Given the description of an element on the screen output the (x, y) to click on. 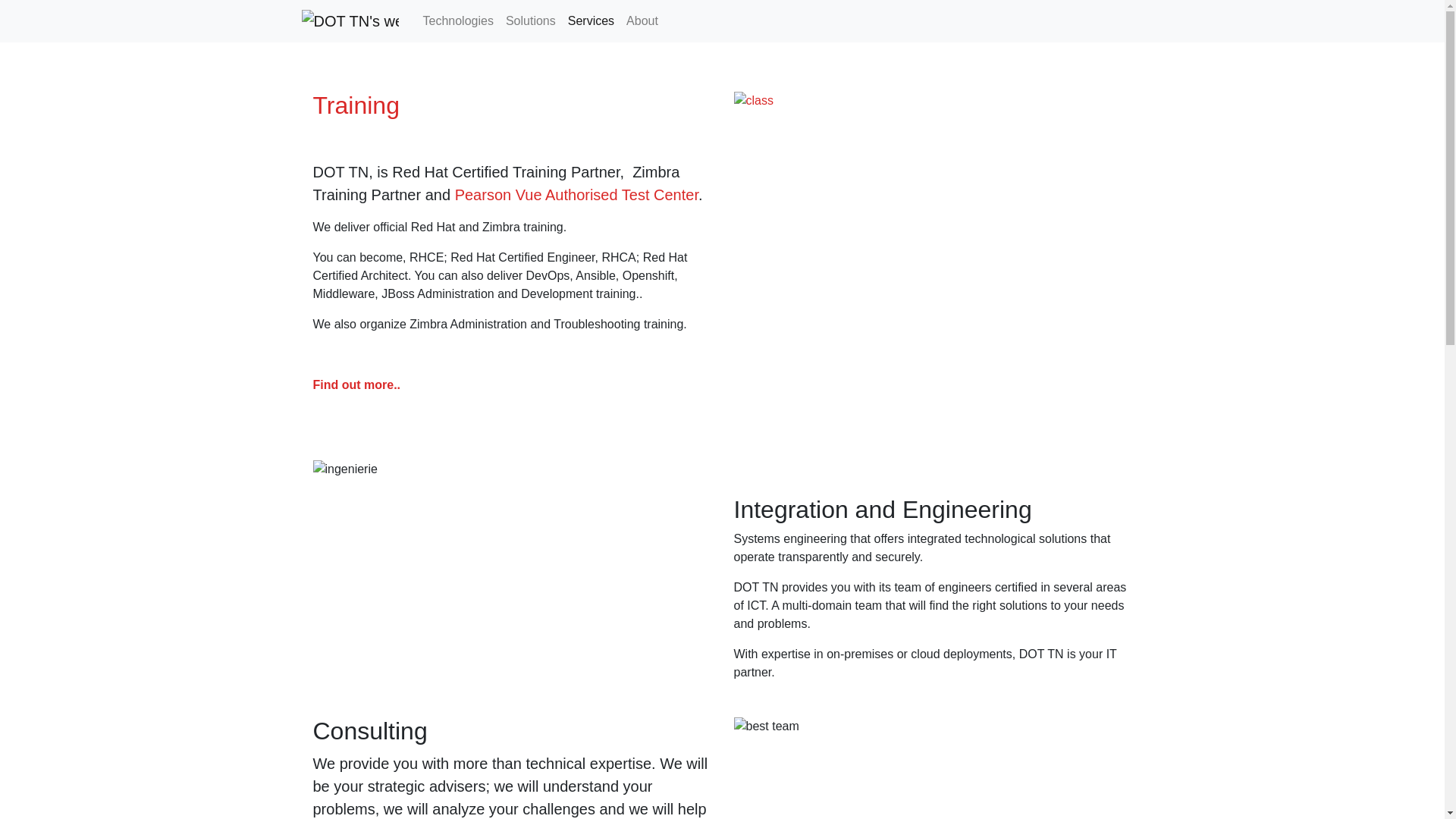
DOT TN Services (591, 20)
Training (355, 104)
Solutions (530, 20)
Services (591, 20)
Find out more.. (356, 384)
About (641, 20)
Technologies (457, 20)
Pearson Vue Authorised Test Center (576, 194)
